Given the description of an element on the screen output the (x, y) to click on. 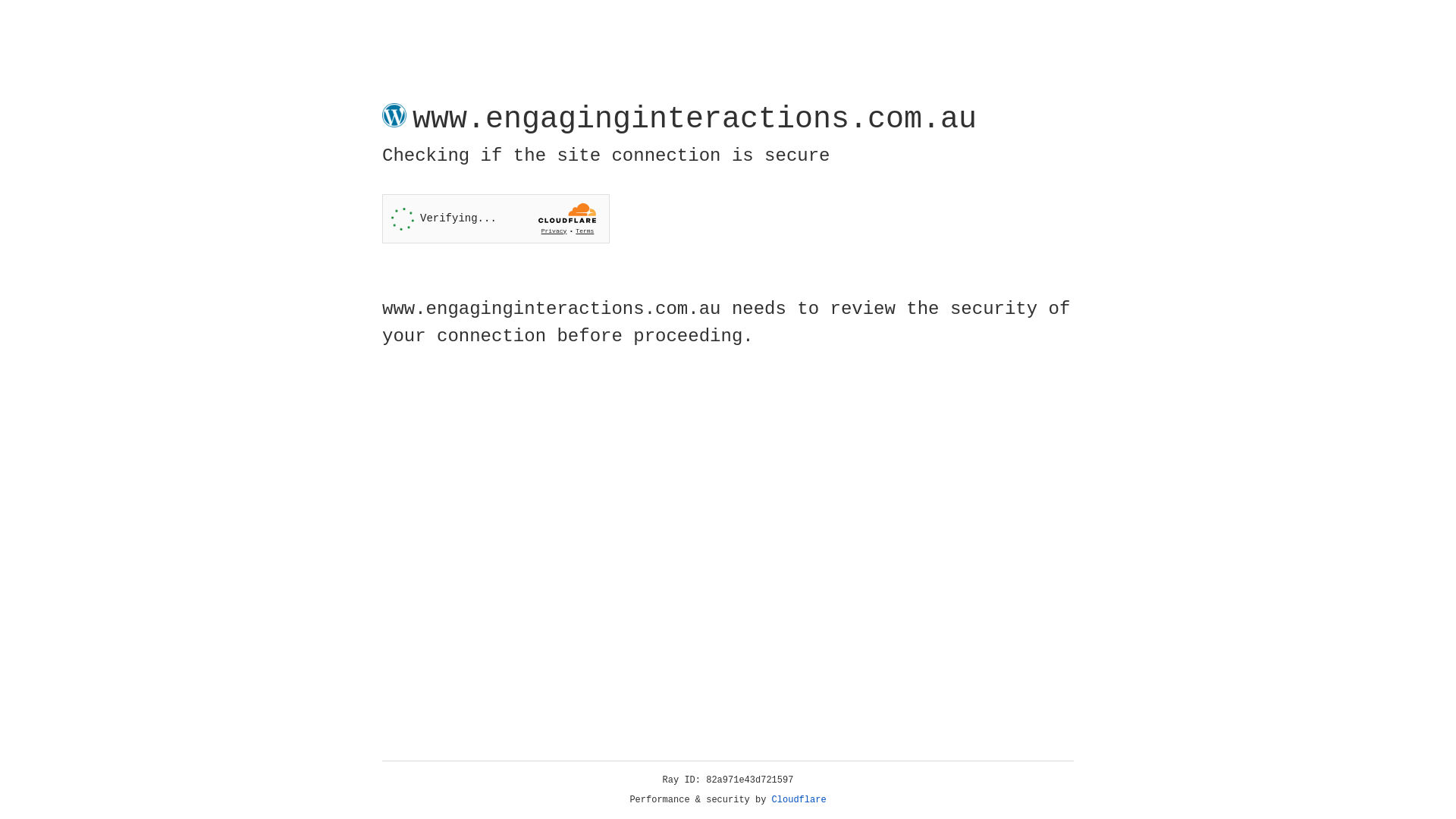
Widget containing a Cloudflare security challenge Element type: hover (495, 218)
Cloudflare Element type: text (798, 799)
